Given the description of an element on the screen output the (x, y) to click on. 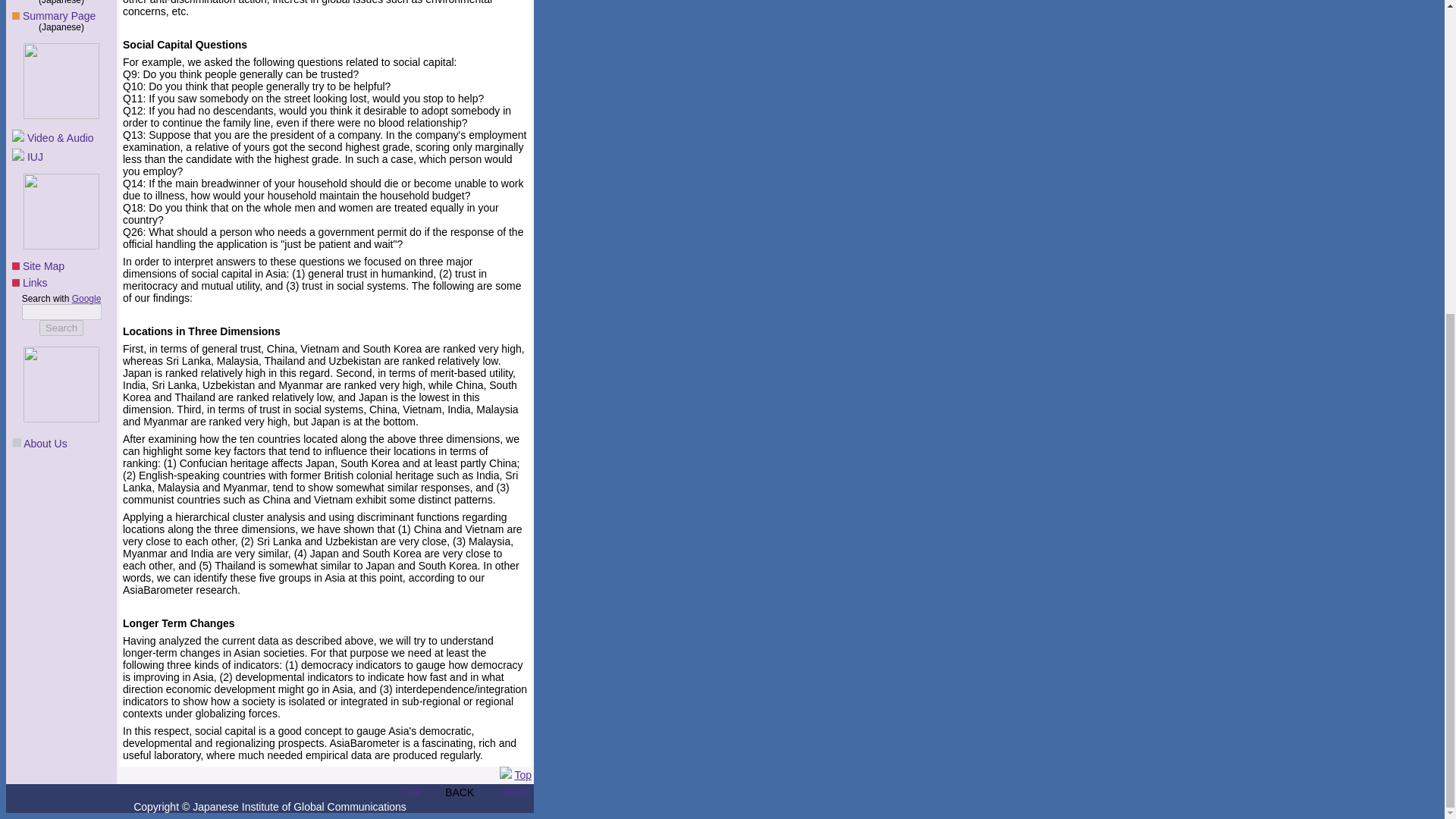
About Us (44, 443)
BACK (459, 792)
HOME (515, 792)
Google (86, 298)
Search (60, 327)
Site Map (43, 265)
Summary Page (59, 15)
TOP (411, 792)
Links (35, 282)
IUJ (35, 156)
